Given the description of an element on the screen output the (x, y) to click on. 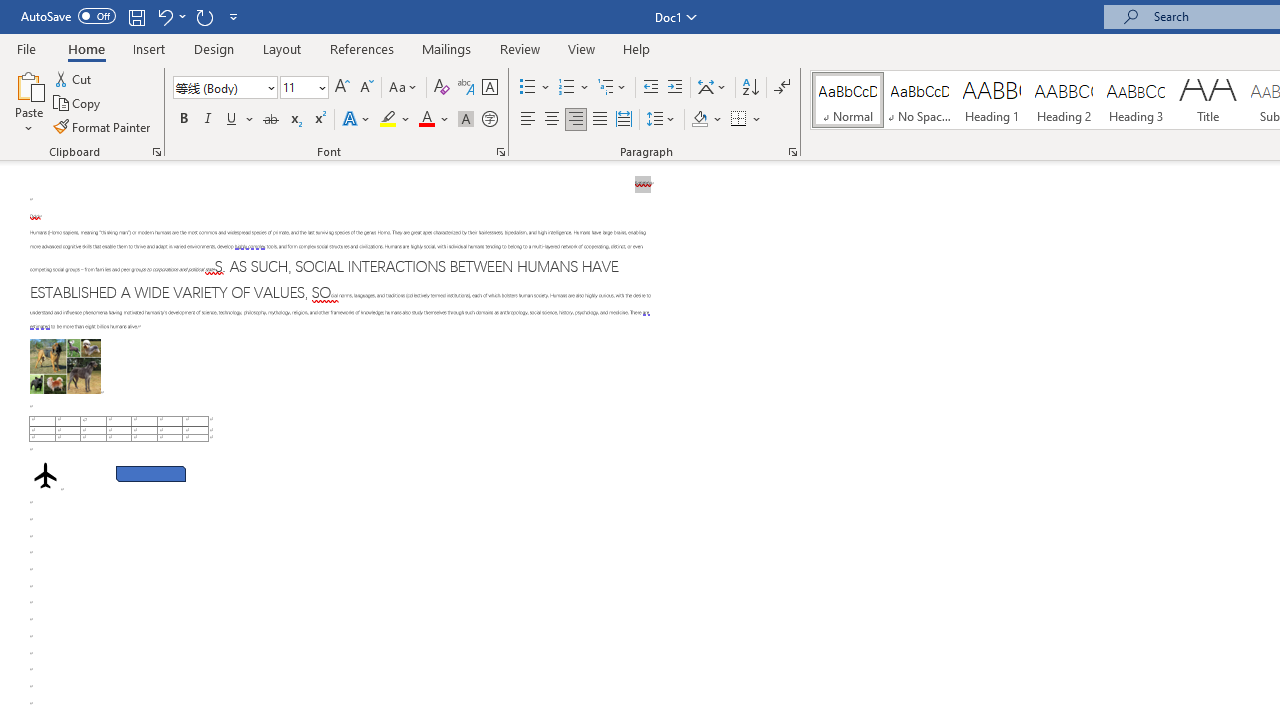
Heading 3 (1135, 100)
